Given the description of an element on the screen output the (x, y) to click on. 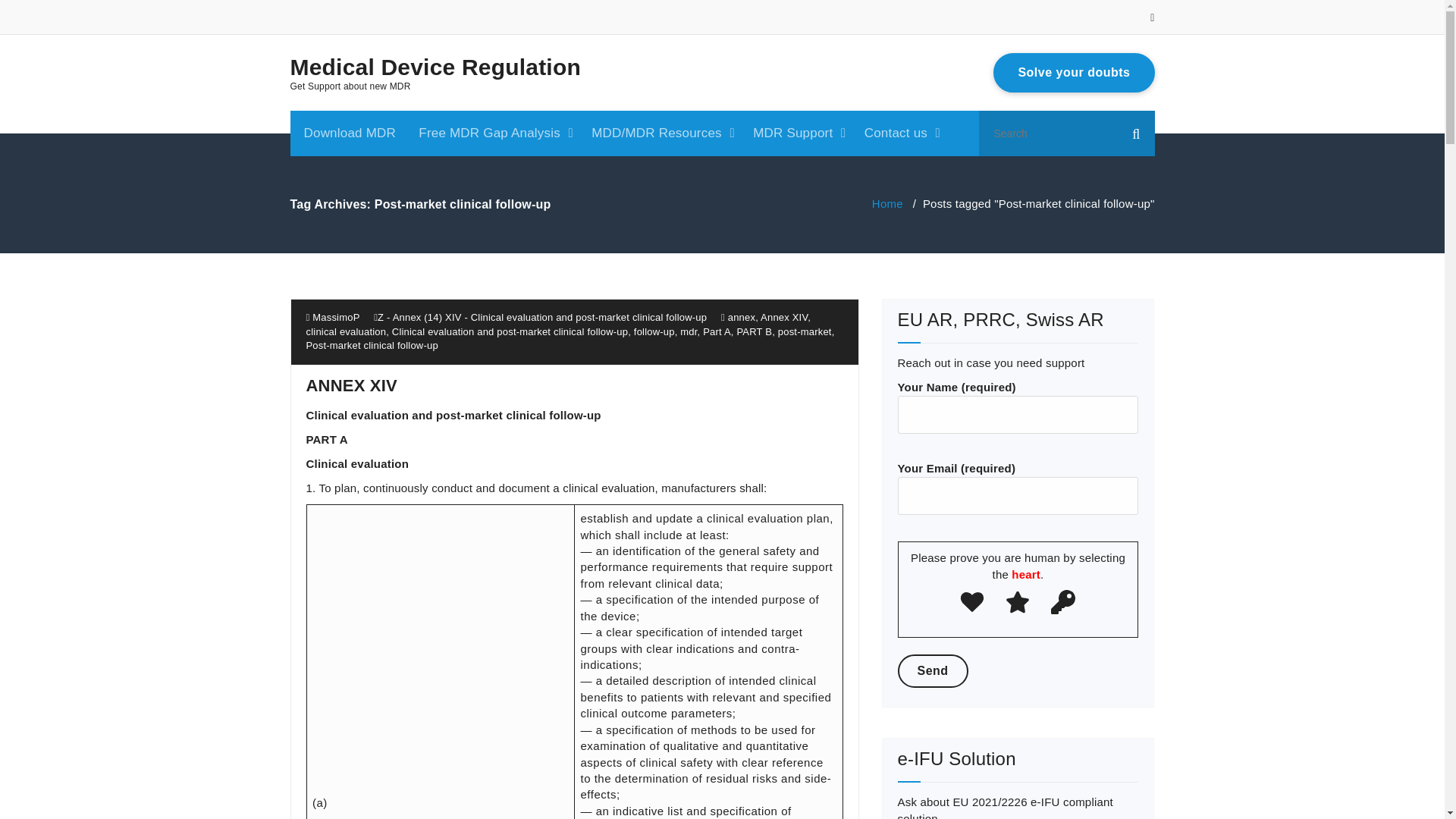
MDR Support (796, 133)
Free MDR Gap Analysis (493, 133)
Medical Device Regulation (434, 67)
MassimoP (332, 317)
Send (933, 670)
Download MDR (349, 133)
Solve your doubts (1073, 72)
annex (741, 317)
Home (887, 203)
Contact us (899, 133)
